Given the description of an element on the screen output the (x, y) to click on. 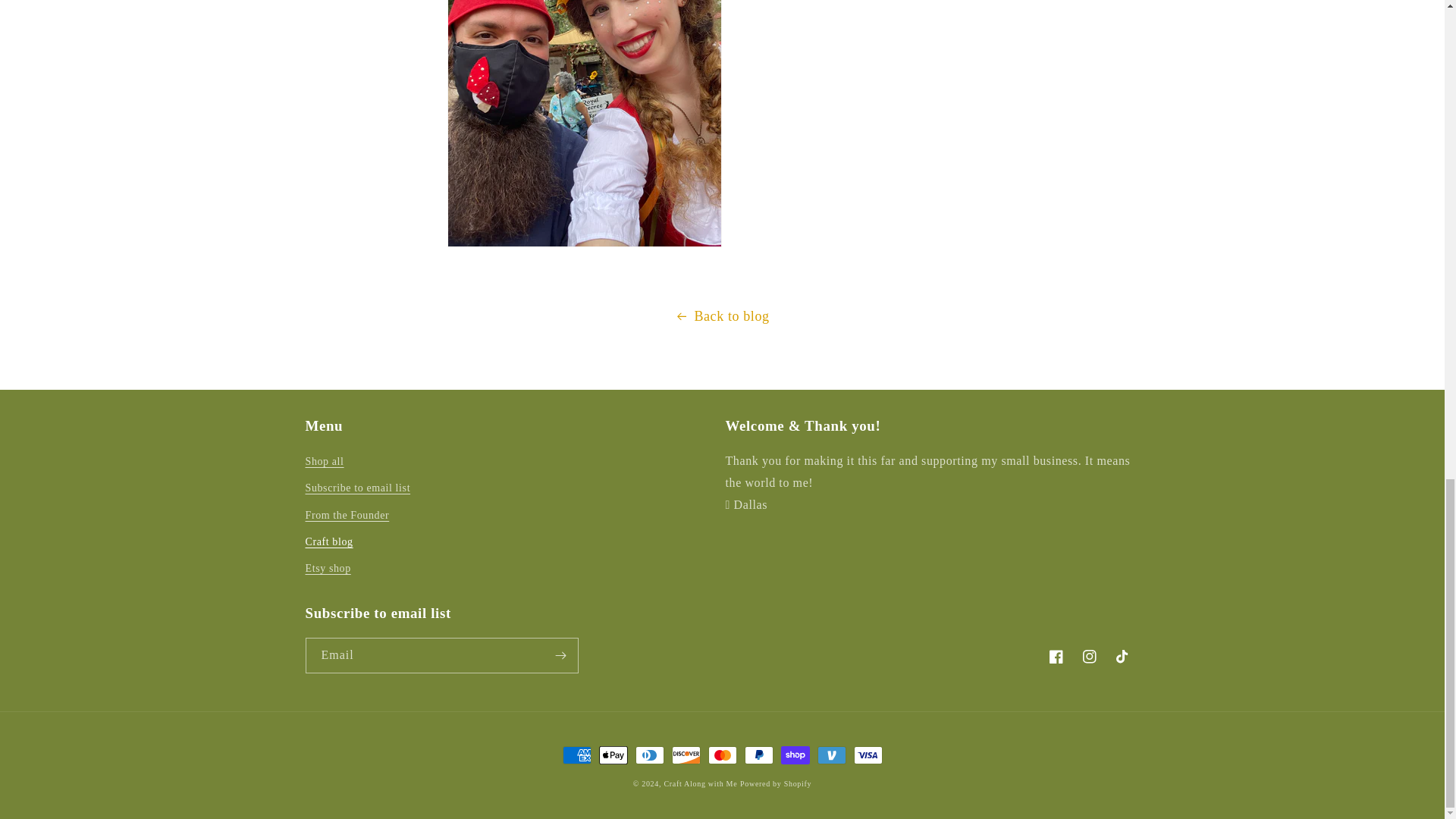
Subscribe to email list (357, 488)
Etsy shop (327, 568)
Craft blog (328, 541)
From the Founder (346, 515)
Shop all (323, 463)
